Given the description of an element on the screen output the (x, y) to click on. 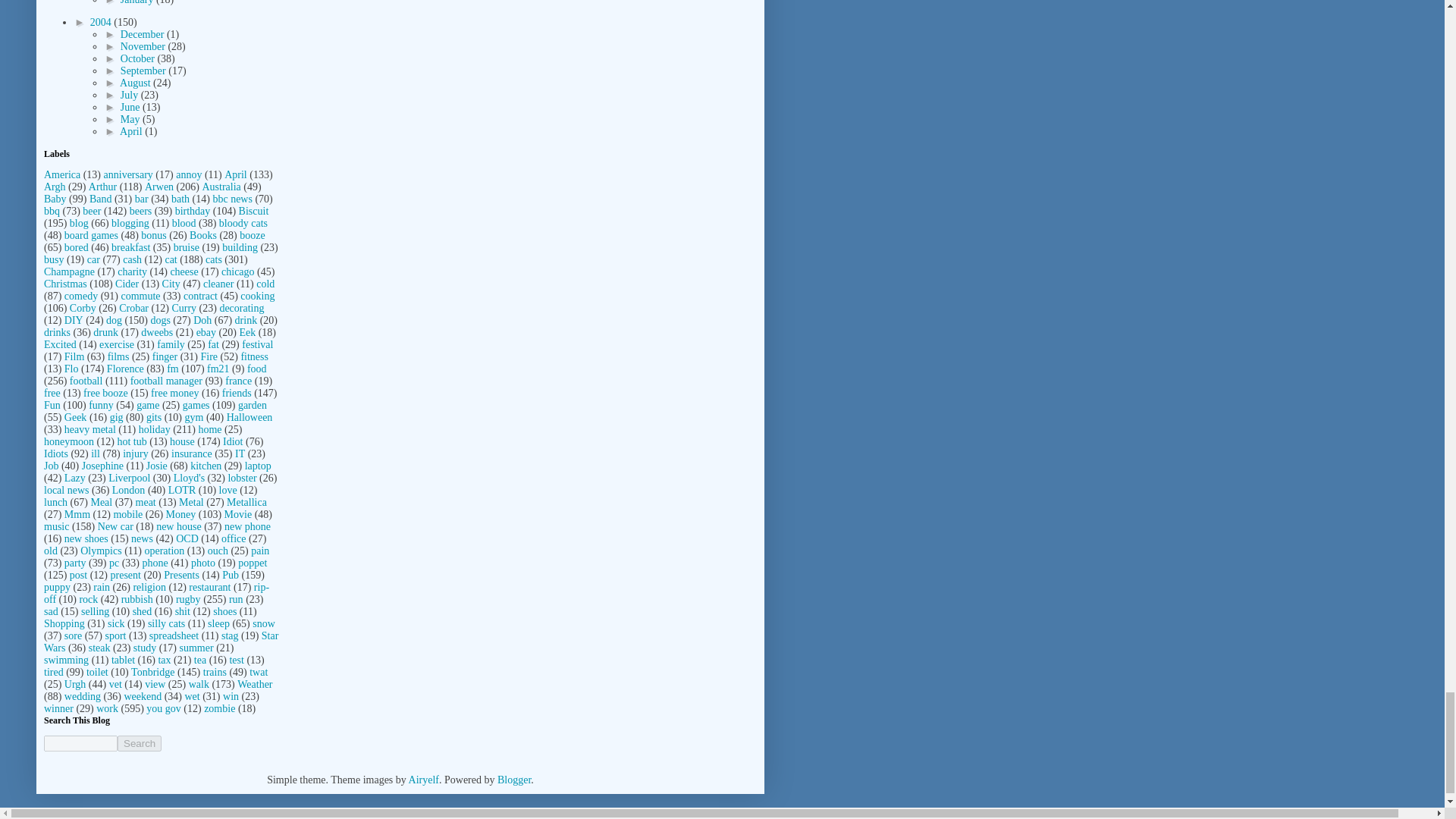
search (139, 743)
search (80, 743)
Search (139, 743)
Search (139, 743)
